Given the description of an element on the screen output the (x, y) to click on. 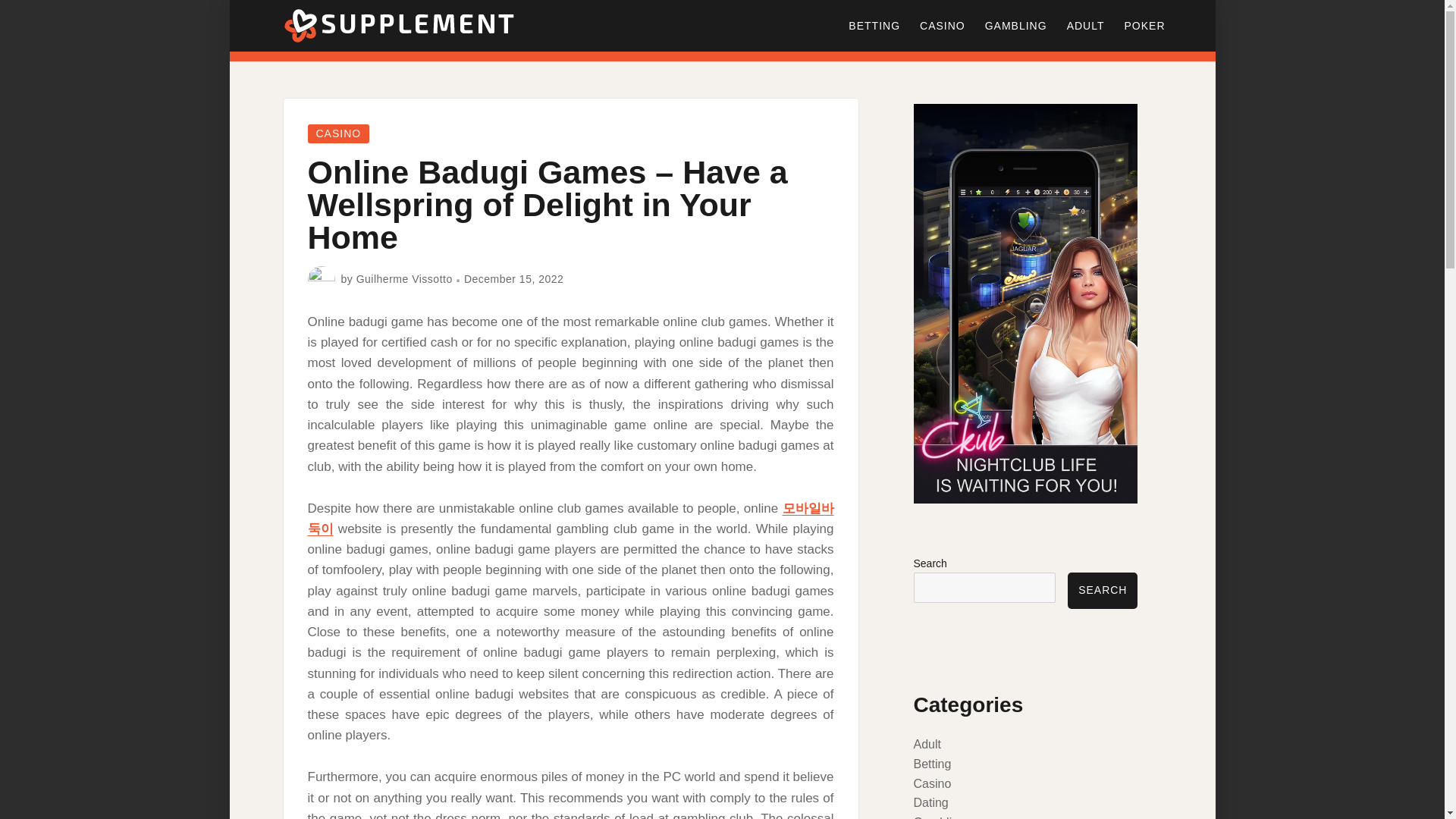
CASINO (338, 133)
CASINO (942, 25)
Betting (931, 763)
Dating (929, 802)
ADULT (1086, 25)
SEARCH (1102, 590)
Casino (931, 783)
Adult (926, 744)
BETTING (874, 25)
GAMBLING (1016, 25)
December 15, 2022 (513, 278)
Guilherme Vissotto (404, 278)
POKER (1143, 25)
Gambling (937, 817)
